Given the description of an element on the screen output the (x, y) to click on. 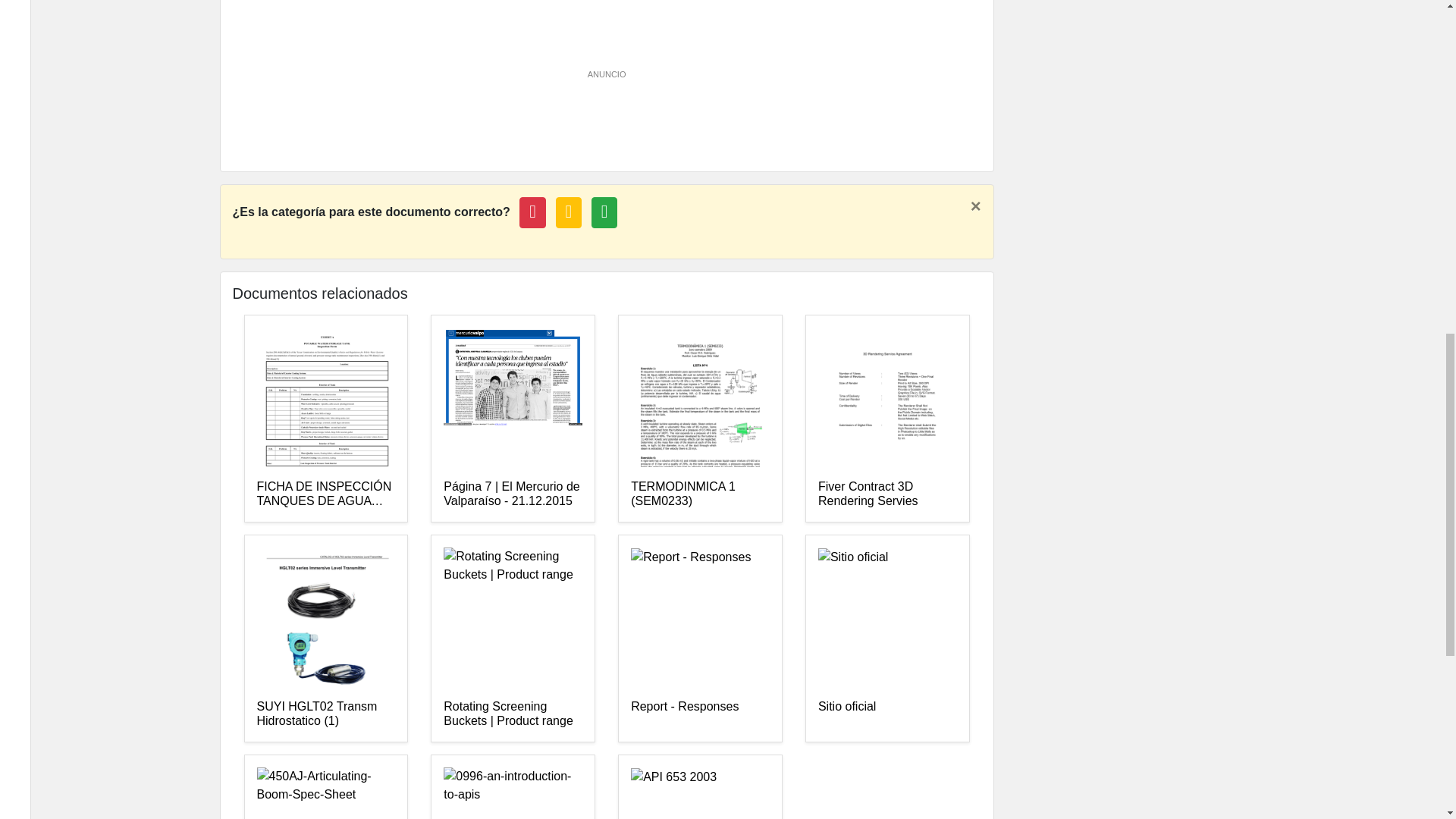
Report - Responses (700, 714)
Fiver Contract 3D Rendering Servies (887, 494)
Report - Responses (700, 714)
Sitio oficial (887, 714)
Fiver Contract 3D Rendering Servies (887, 494)
